Given the description of an element on the screen output the (x, y) to click on. 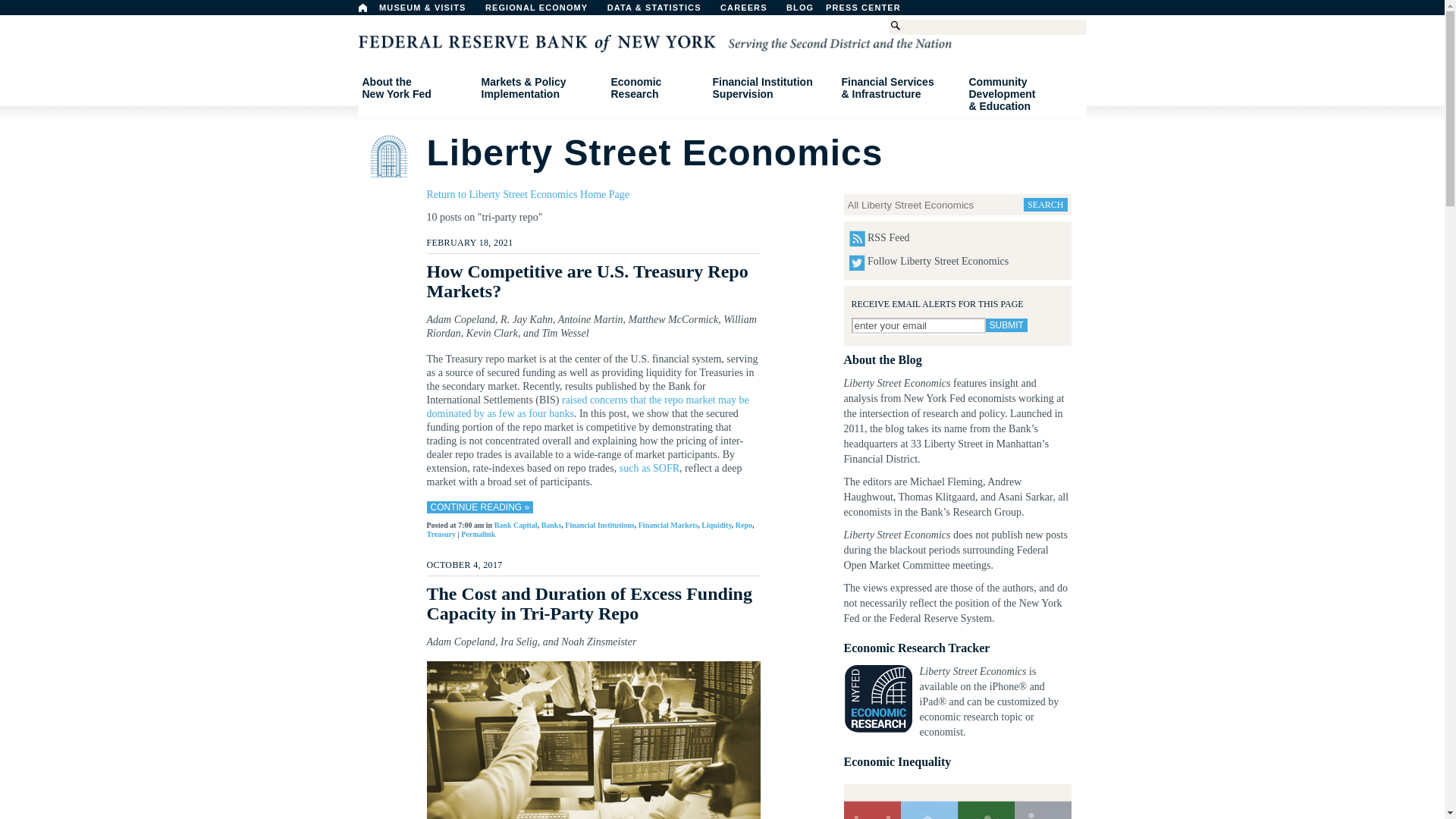
PRESS CENTER (870, 11)
BLOG (415, 87)
enter your email (839, 11)
Home (917, 325)
REGIONAL ECONOMY (362, 8)
CAREERS (543, 11)
Submit (751, 11)
